Given the description of an element on the screen output the (x, y) to click on. 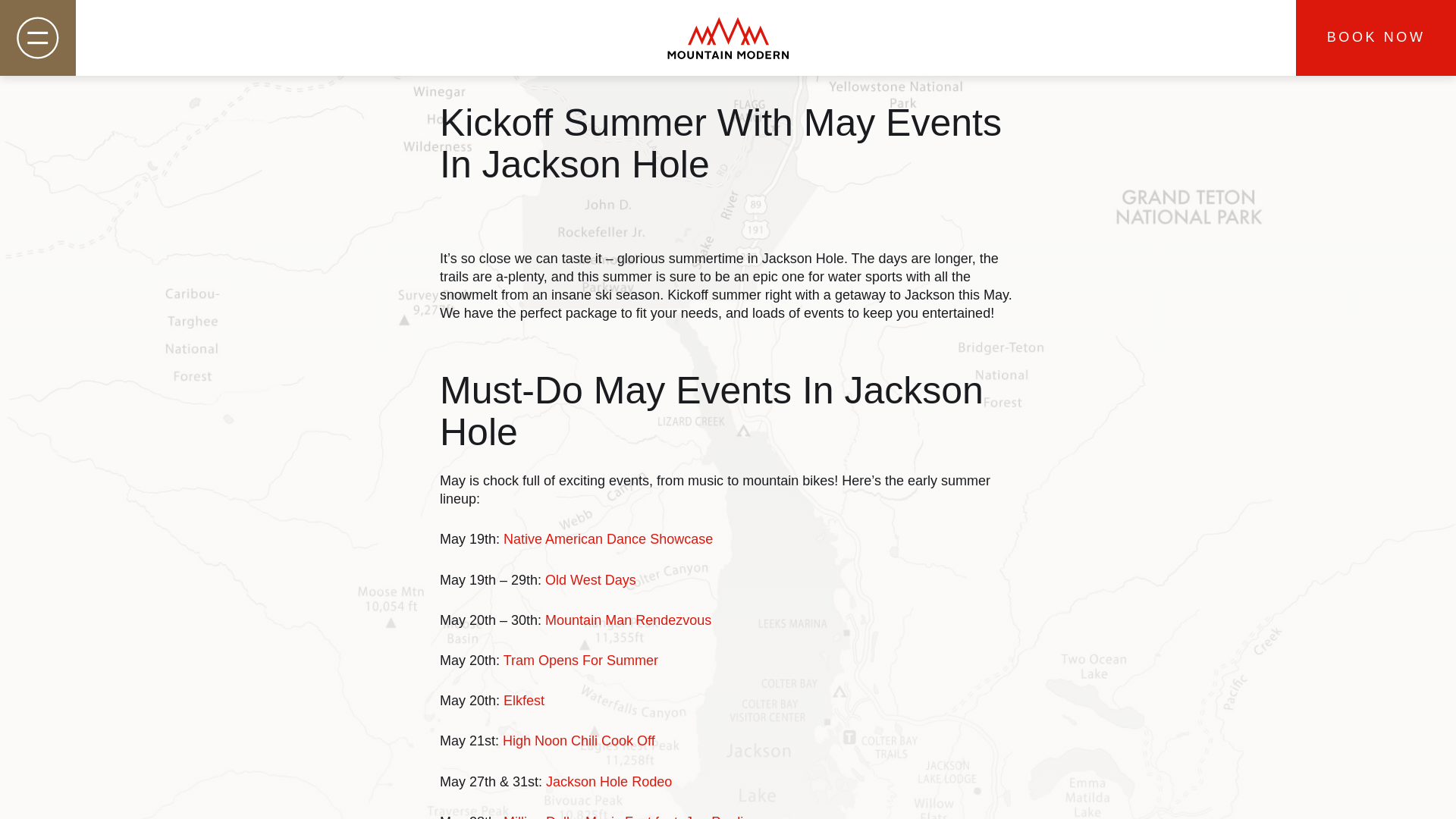
Elkfest (523, 700)
Million Dollar Music Fest feat. Jon Pardi (622, 816)
Jackson Hole Rodeo (608, 781)
Old West Days (590, 580)
Mountain Man Rendezvous (627, 620)
Native American Dance Showcase (608, 539)
High Noon Chili Cook Off (578, 740)
Tram Opens For Summer (580, 660)
